Given the description of an element on the screen output the (x, y) to click on. 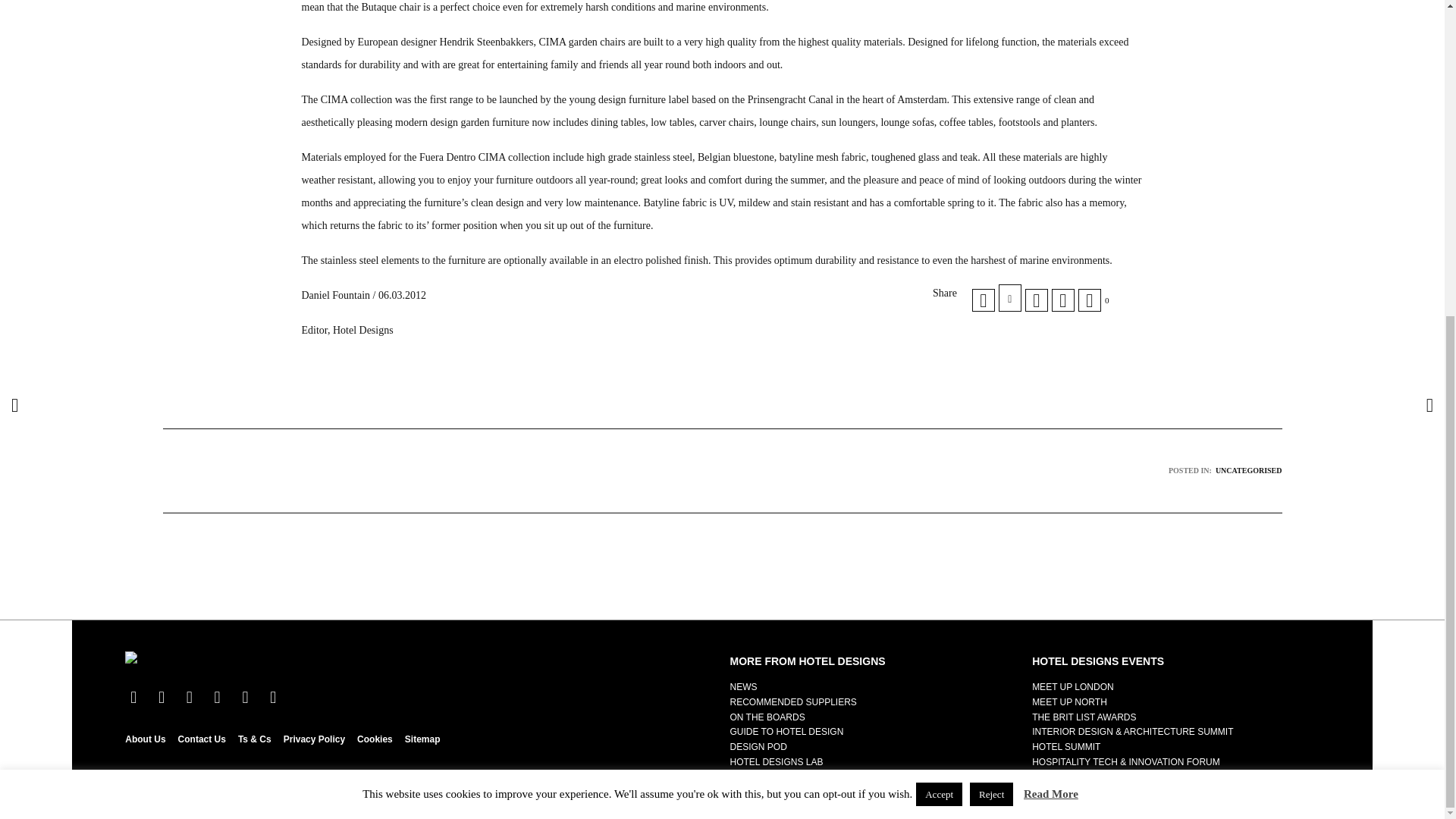
BUTAQUE contemporary garden chairs (983, 300)
BUTAQUE contemporary garden chairs (1036, 300)
BUTAQUE contemporary garden chairs (1010, 298)
BUTAQUE contemporary garden chairs (1062, 300)
